Given the description of an element on the screen output the (x, y) to click on. 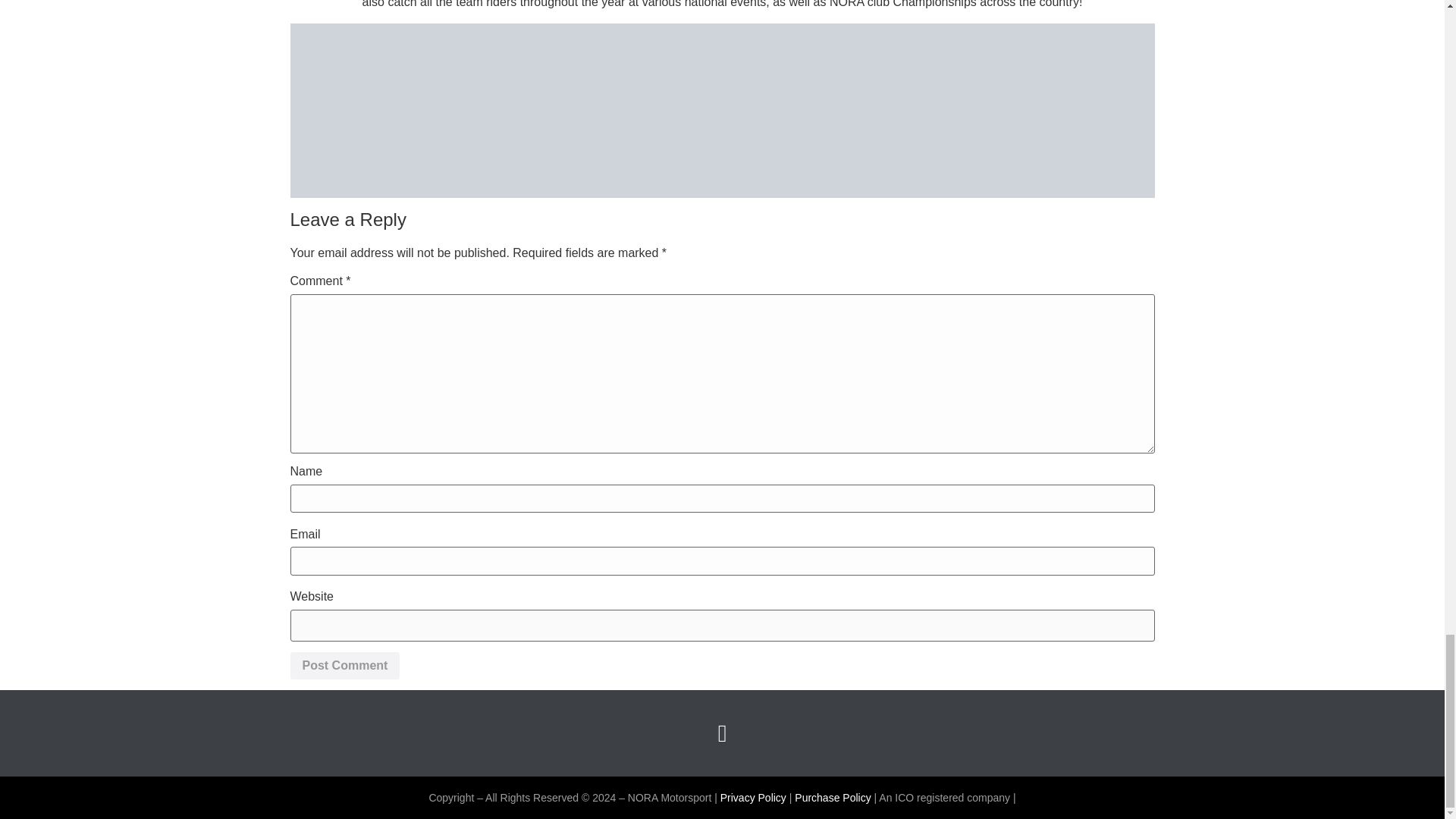
Post Comment (343, 665)
